Given the description of an element on the screen output the (x, y) to click on. 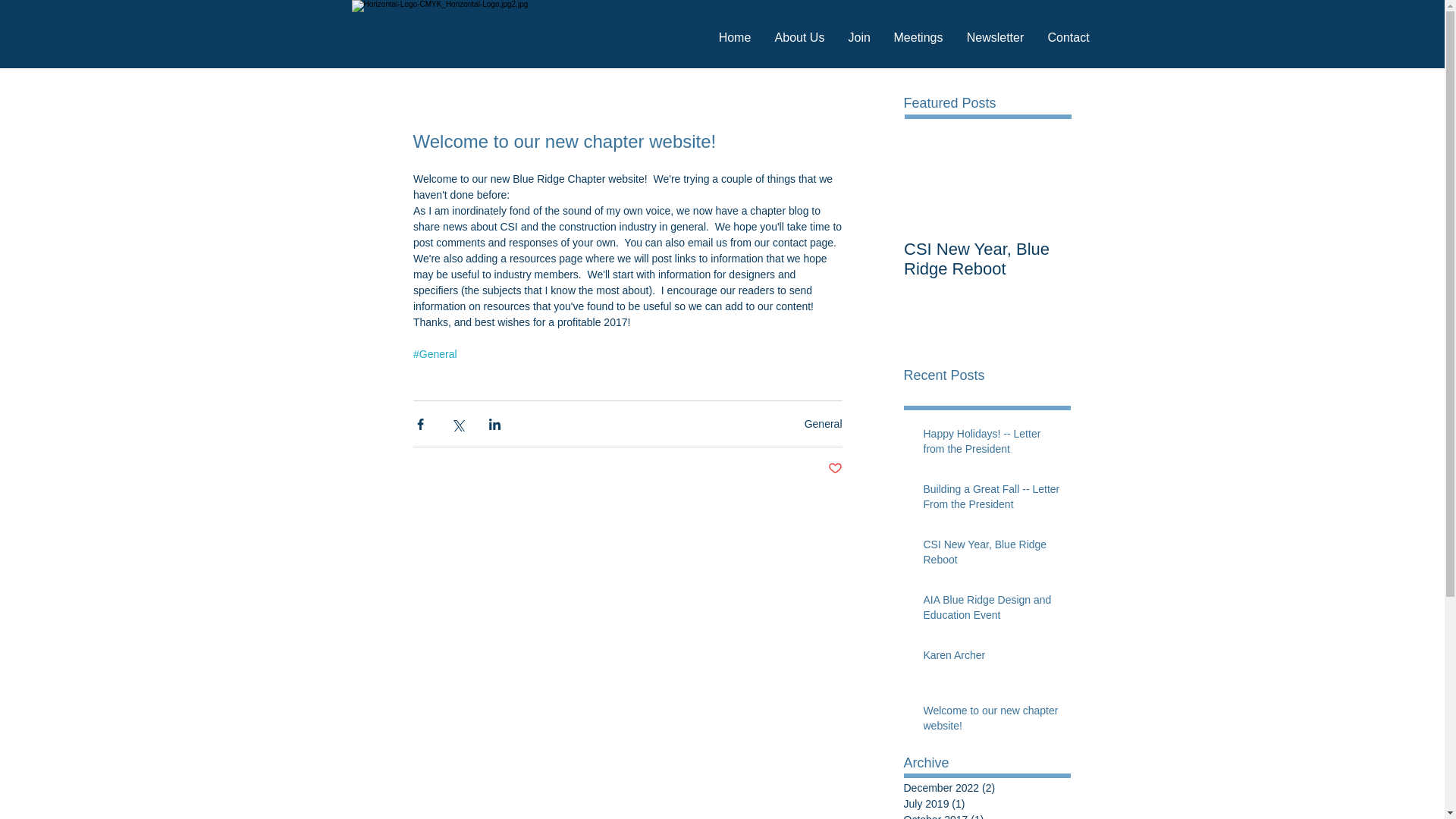
Home (733, 36)
Meetings (918, 36)
Post not marked as liked (835, 468)
Building a Great Fall -- Letter From the President (992, 499)
Contact (1067, 36)
CSI New Year, Blue Ridge Reboot (992, 555)
Karen Archer (992, 658)
About Us (798, 36)
Happy Holidays! -- Letter from the President (992, 444)
Welcome to our new chapter website! (992, 721)
CSI New Year, Blue Ridge Reboot (987, 259)
General (824, 422)
Join (859, 36)
Newsletter (995, 36)
AIA Blue Ridge Design and Education Event (992, 610)
